Given the description of an element on the screen output the (x, y) to click on. 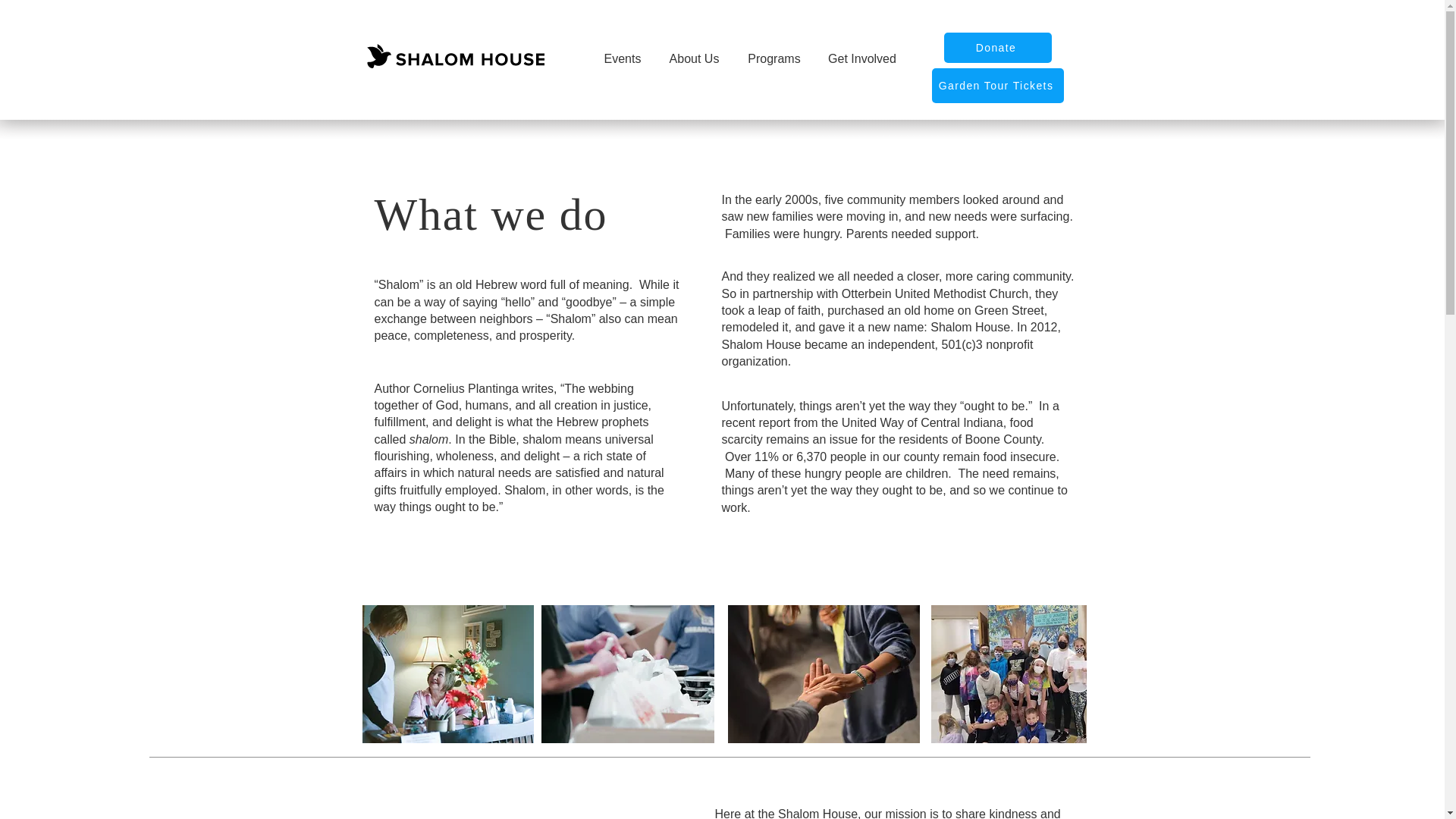
Events (621, 59)
Donate (997, 47)
Garden Tour Tickets (996, 85)
